Given the description of an element on the screen output the (x, y) to click on. 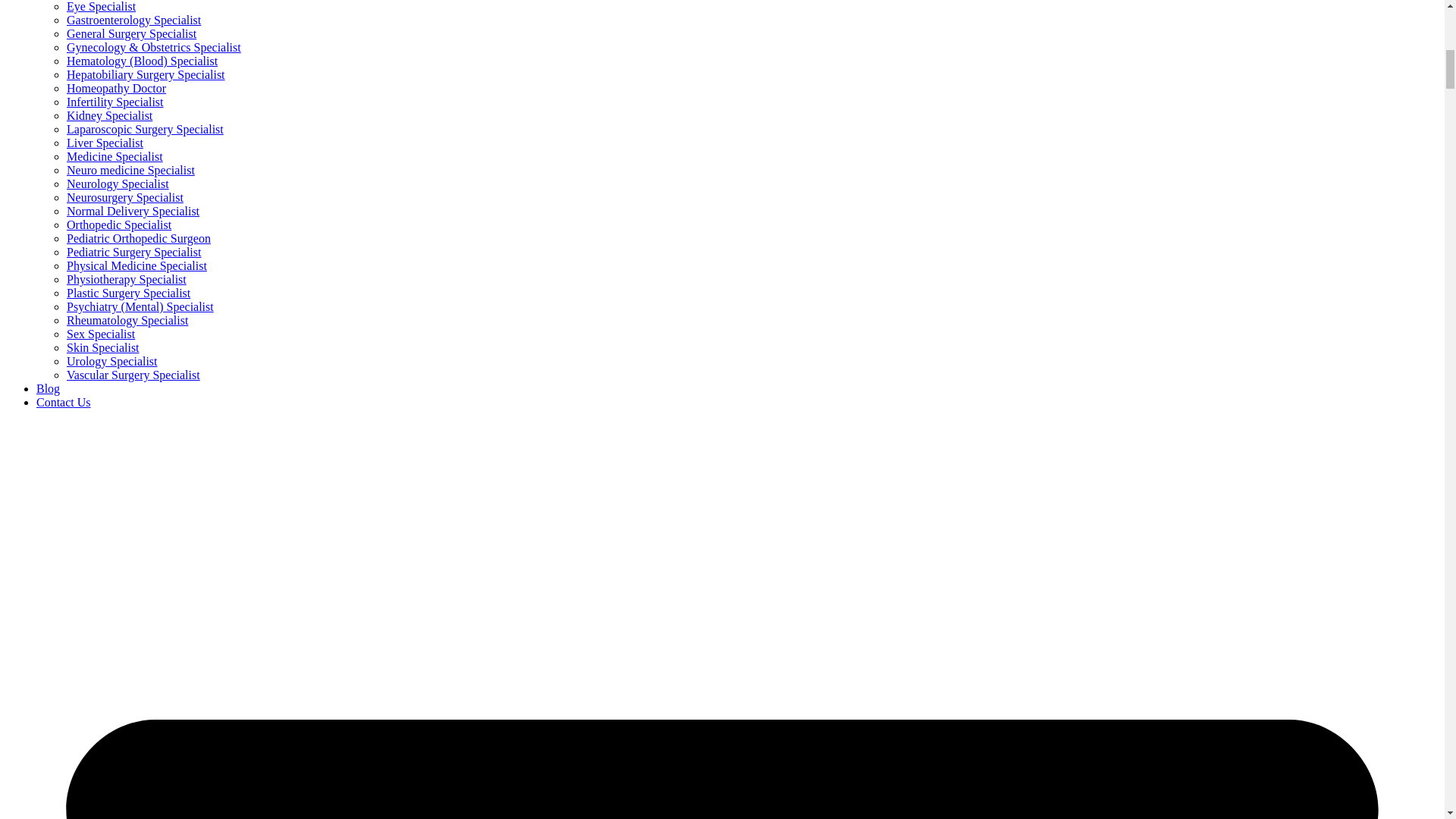
Gastroenterology Specialist (133, 19)
General Surgery Specialist (131, 33)
Eye Specialist (100, 6)
